Given the description of an element on the screen output the (x, y) to click on. 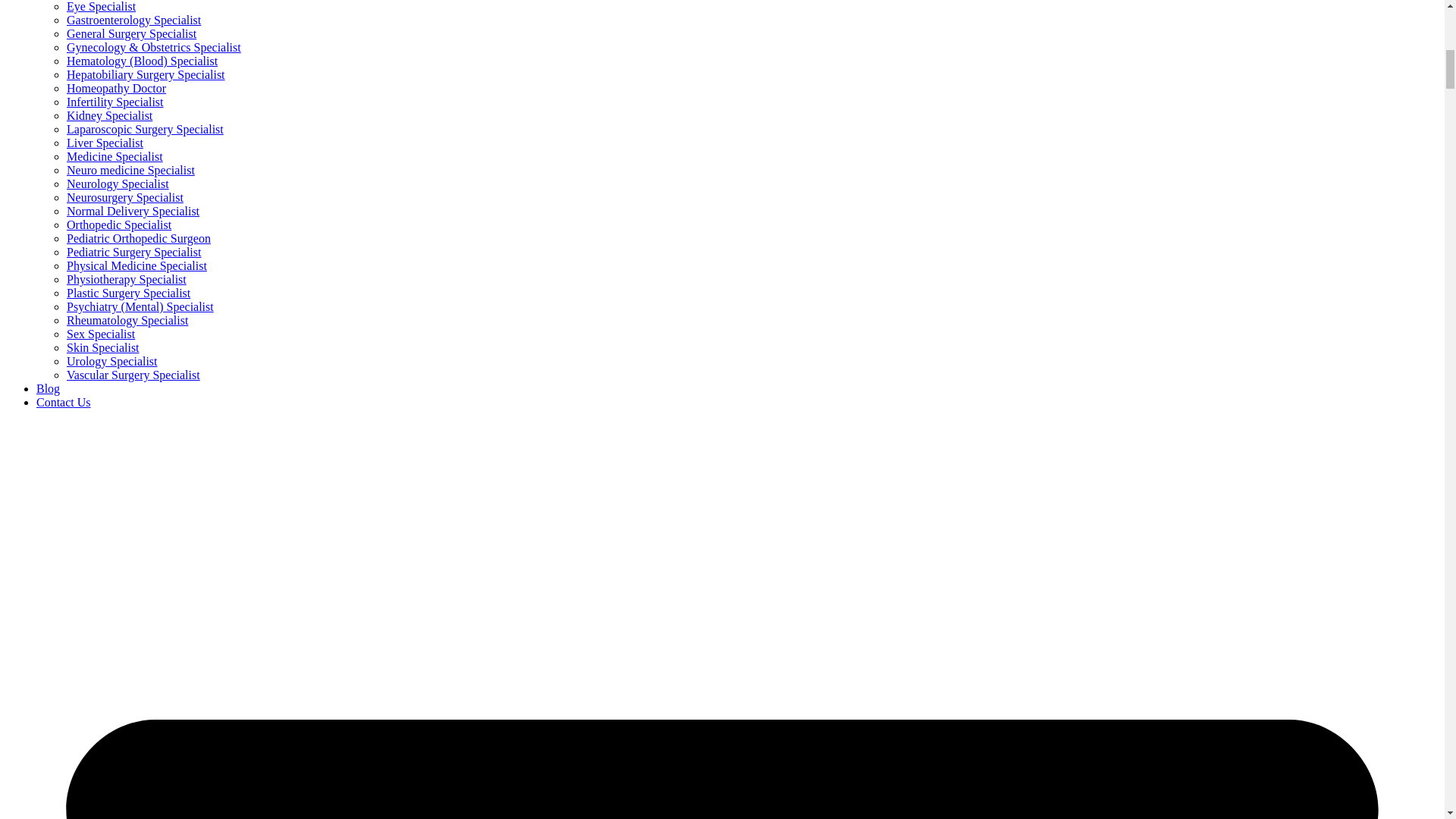
Gastroenterology Specialist (133, 19)
General Surgery Specialist (131, 33)
Eye Specialist (100, 6)
